Given the description of an element on the screen output the (x, y) to click on. 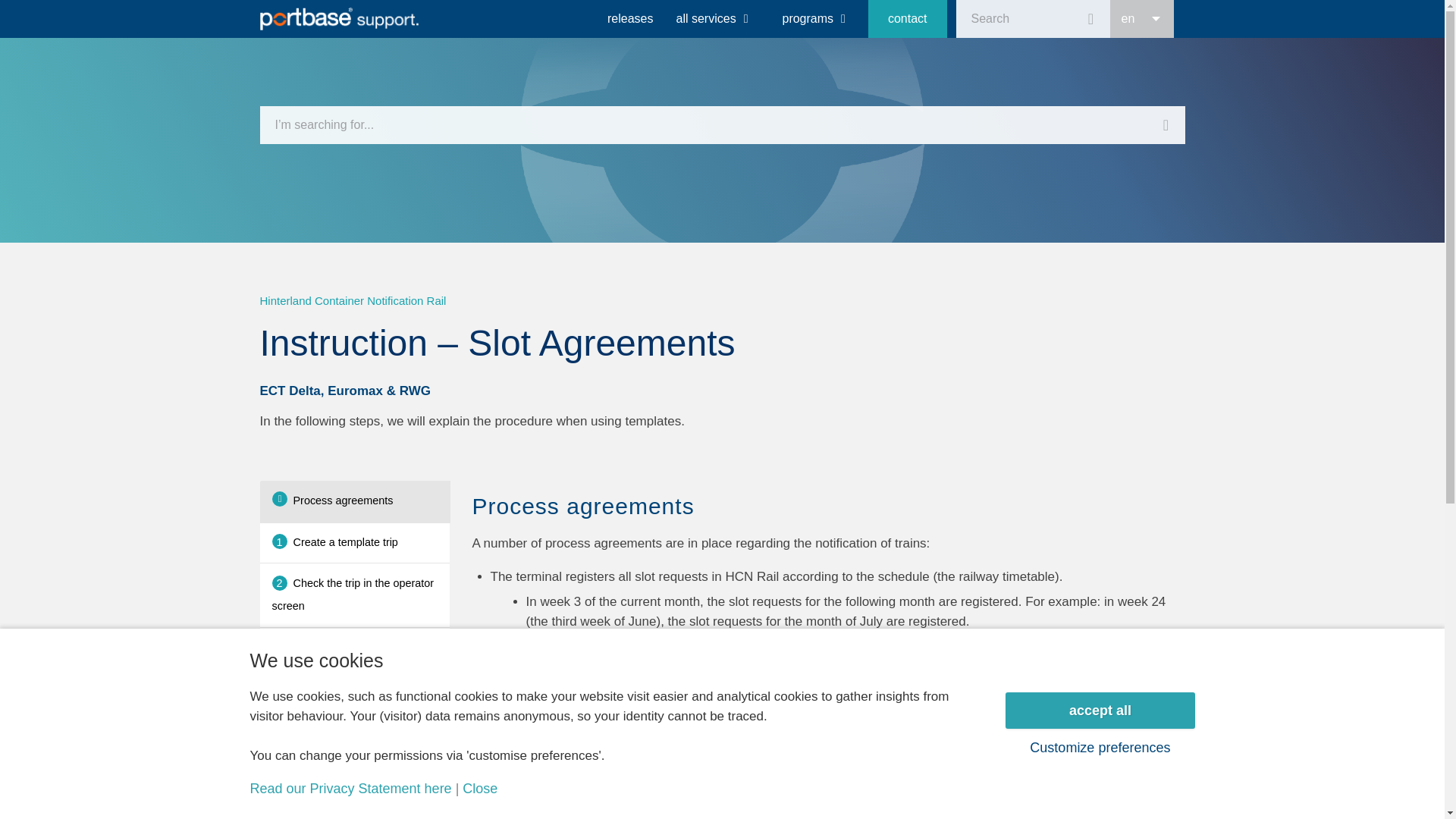
for all kinds of questions (907, 18)
EN (1141, 18)
programs (813, 18)
all services (710, 18)
contact (907, 18)
